Given the description of an element on the screen output the (x, y) to click on. 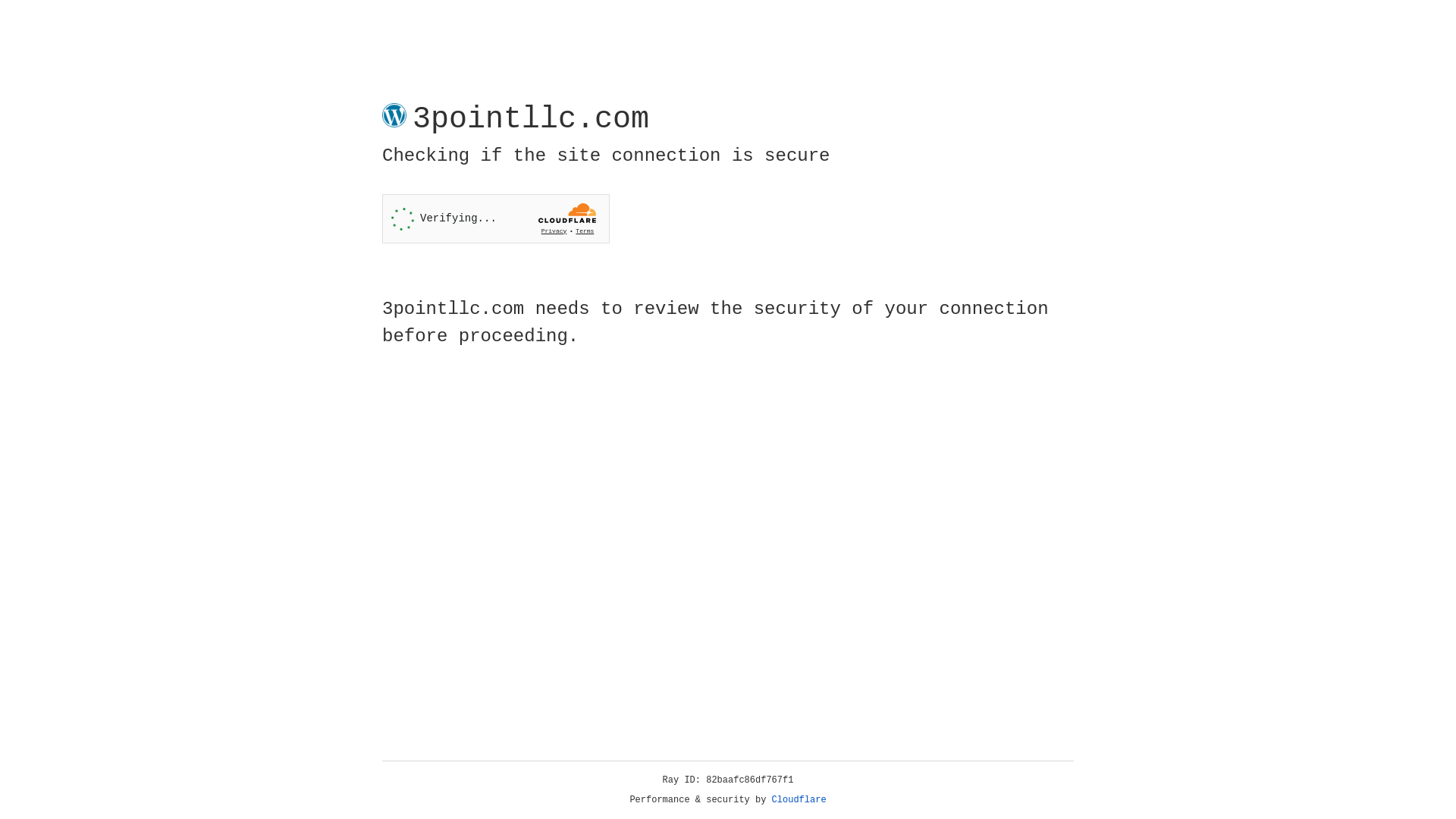
Widget containing a Cloudflare security challenge Element type: hover (495, 218)
Cloudflare Element type: text (798, 799)
